Given the description of an element on the screen output the (x, y) to click on. 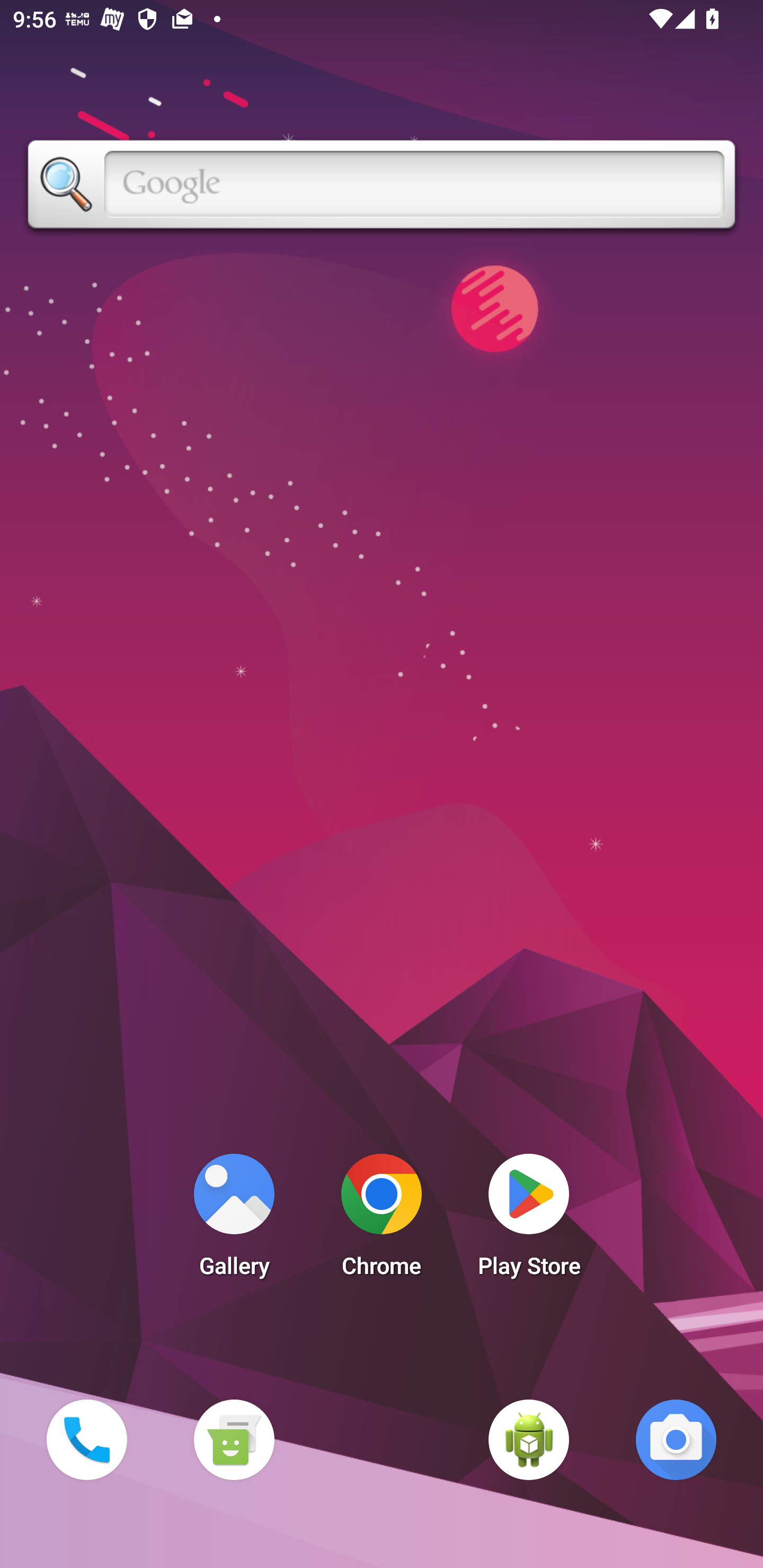
Gallery (233, 1220)
Chrome (381, 1220)
Play Store (528, 1220)
Phone (86, 1439)
Messaging (233, 1439)
WebView Browser Tester (528, 1439)
Camera (676, 1439)
